Given the description of an element on the screen output the (x, y) to click on. 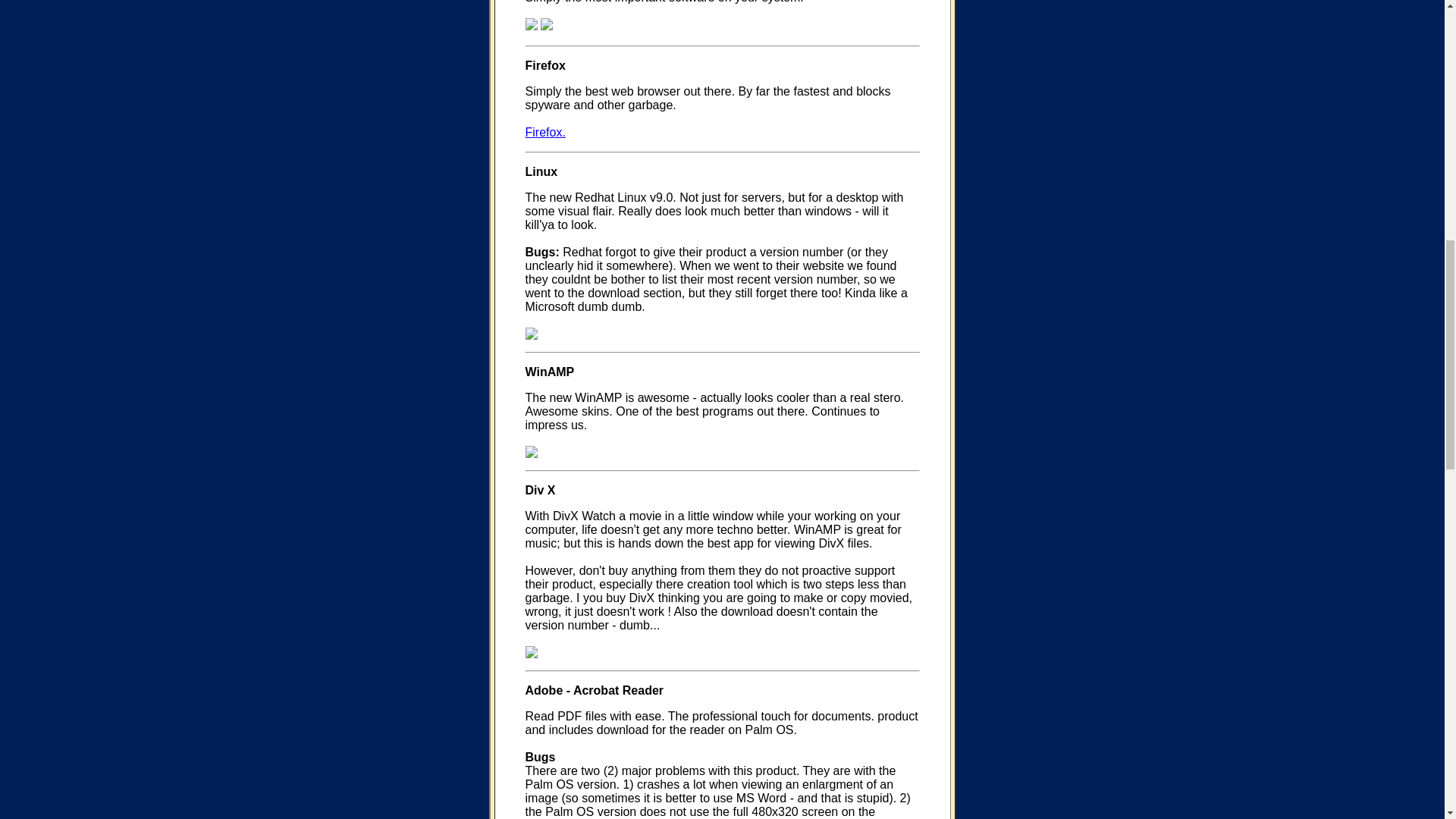
Firefox. (544, 132)
